Given the description of an element on the screen output the (x, y) to click on. 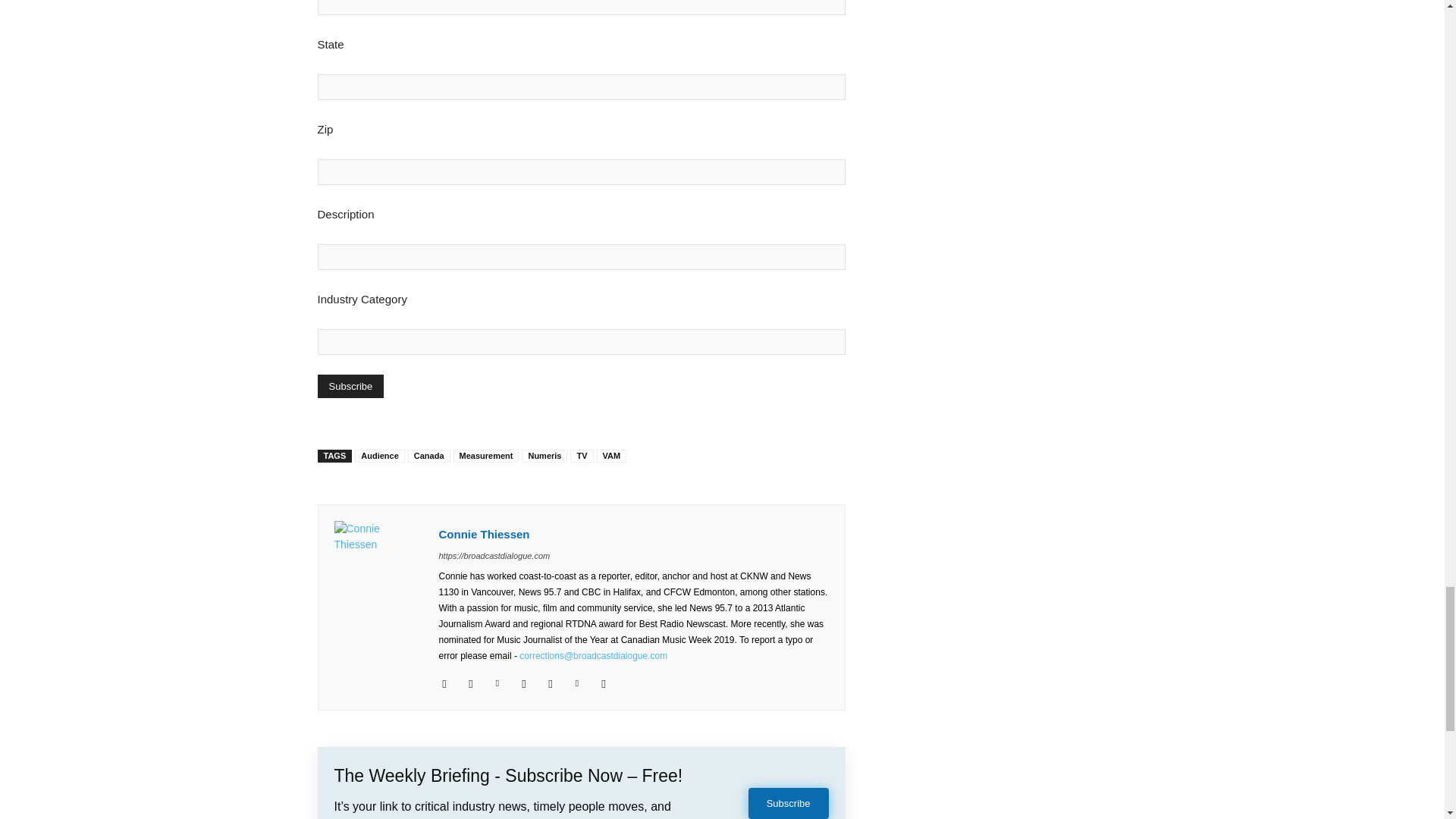
Subscribe (350, 386)
